Given the description of an element on the screen output the (x, y) to click on. 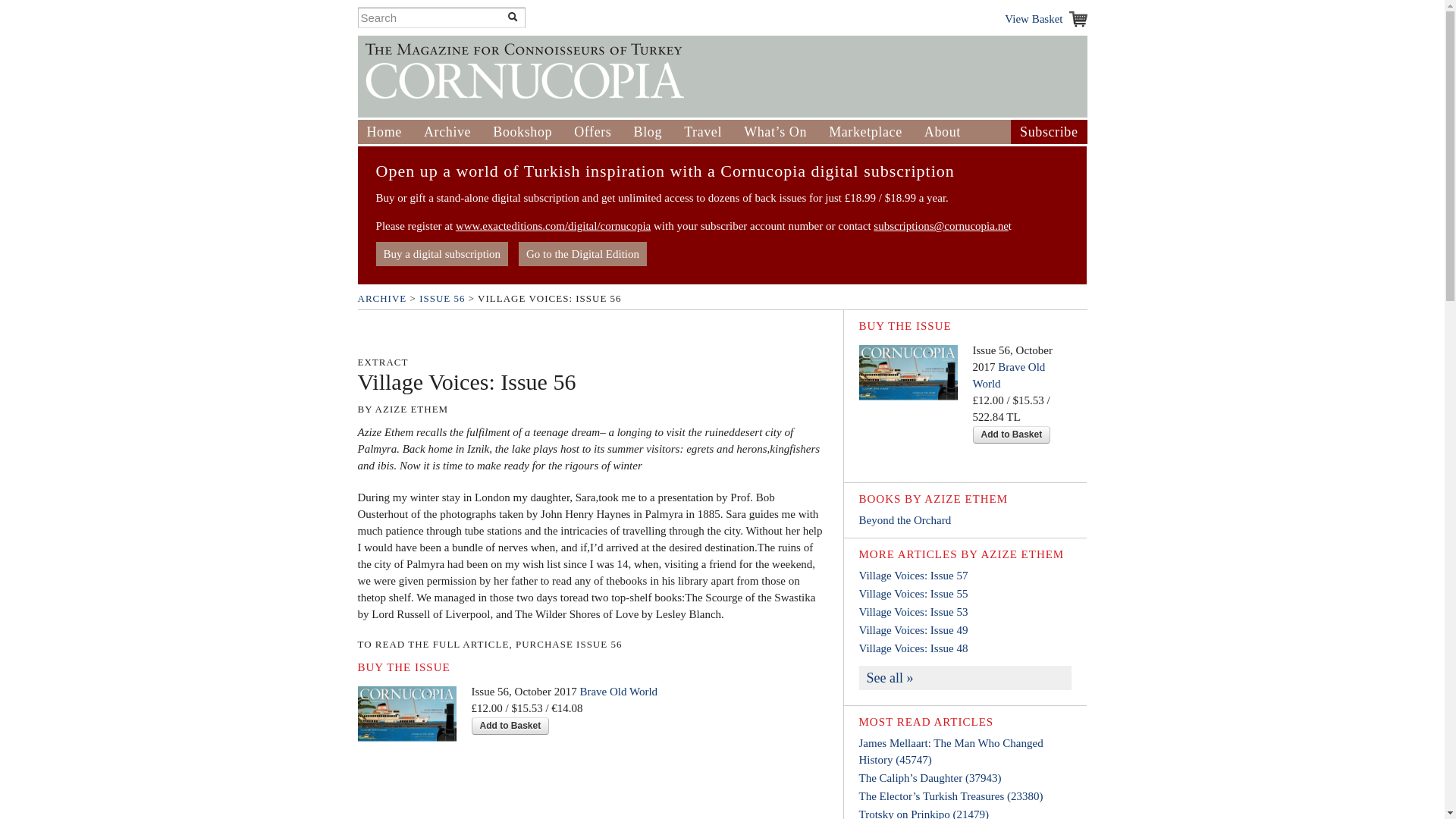
Twitter Tweet Button (381, 333)
Bookshop (522, 131)
Archive (446, 131)
Blog (647, 131)
Go to the Digital Edition (582, 253)
ARCHIVE (382, 297)
About (942, 131)
Subscribe (1048, 131)
View Basket (1045, 18)
Home (383, 131)
